Given the description of an element on the screen output the (x, y) to click on. 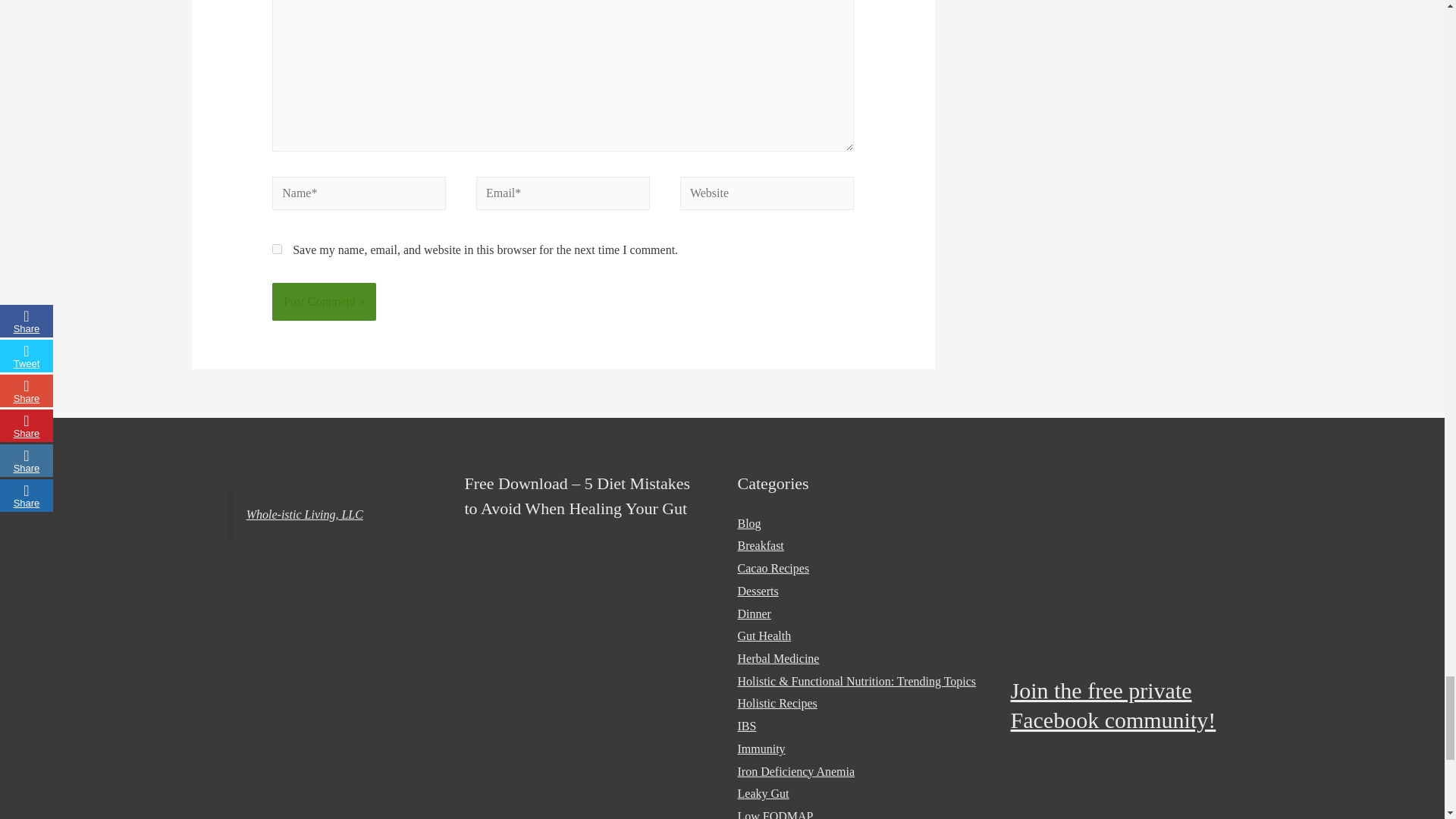
yes (277, 248)
